Given the description of an element on the screen output the (x, y) to click on. 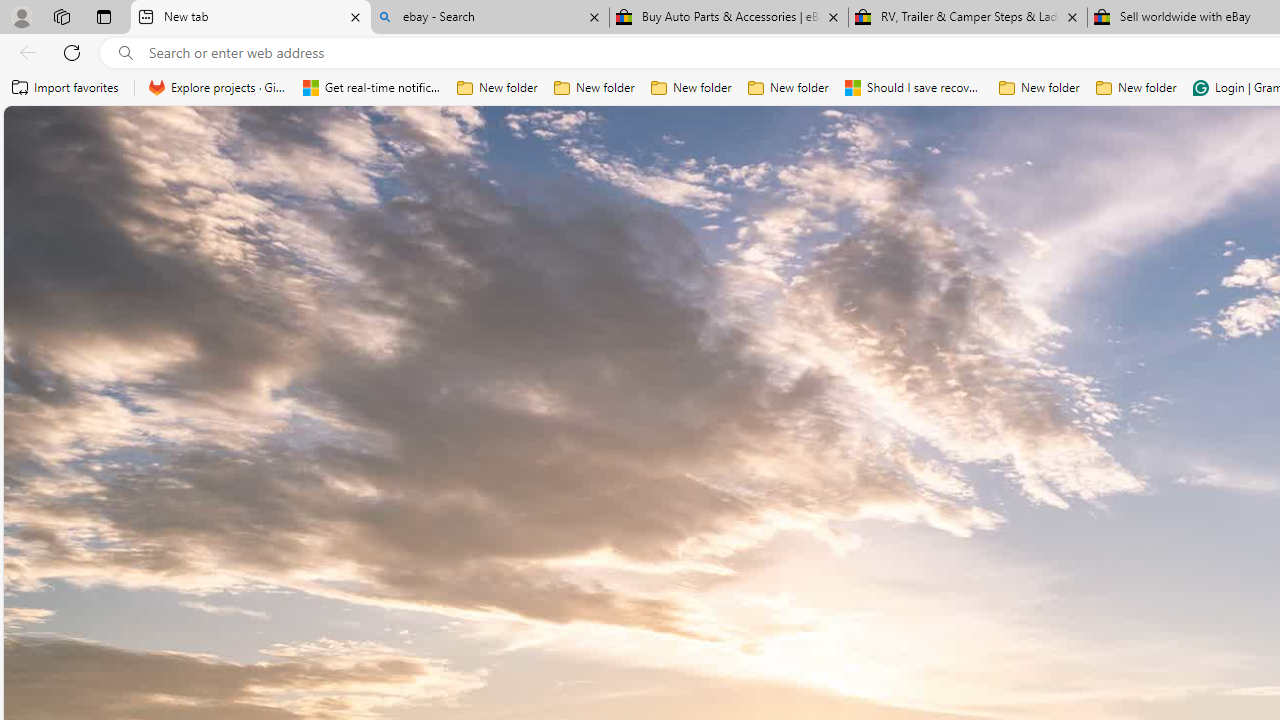
New folder (1136, 88)
More Options (1219, 179)
AutomationID: tab-20 (789, 576)
MUO (522, 507)
AutomationID: tab-29 (874, 576)
AutomationID: tab-15 (750, 576)
View comments 1 Comment (625, 574)
